Given the description of an element on the screen output the (x, y) to click on. 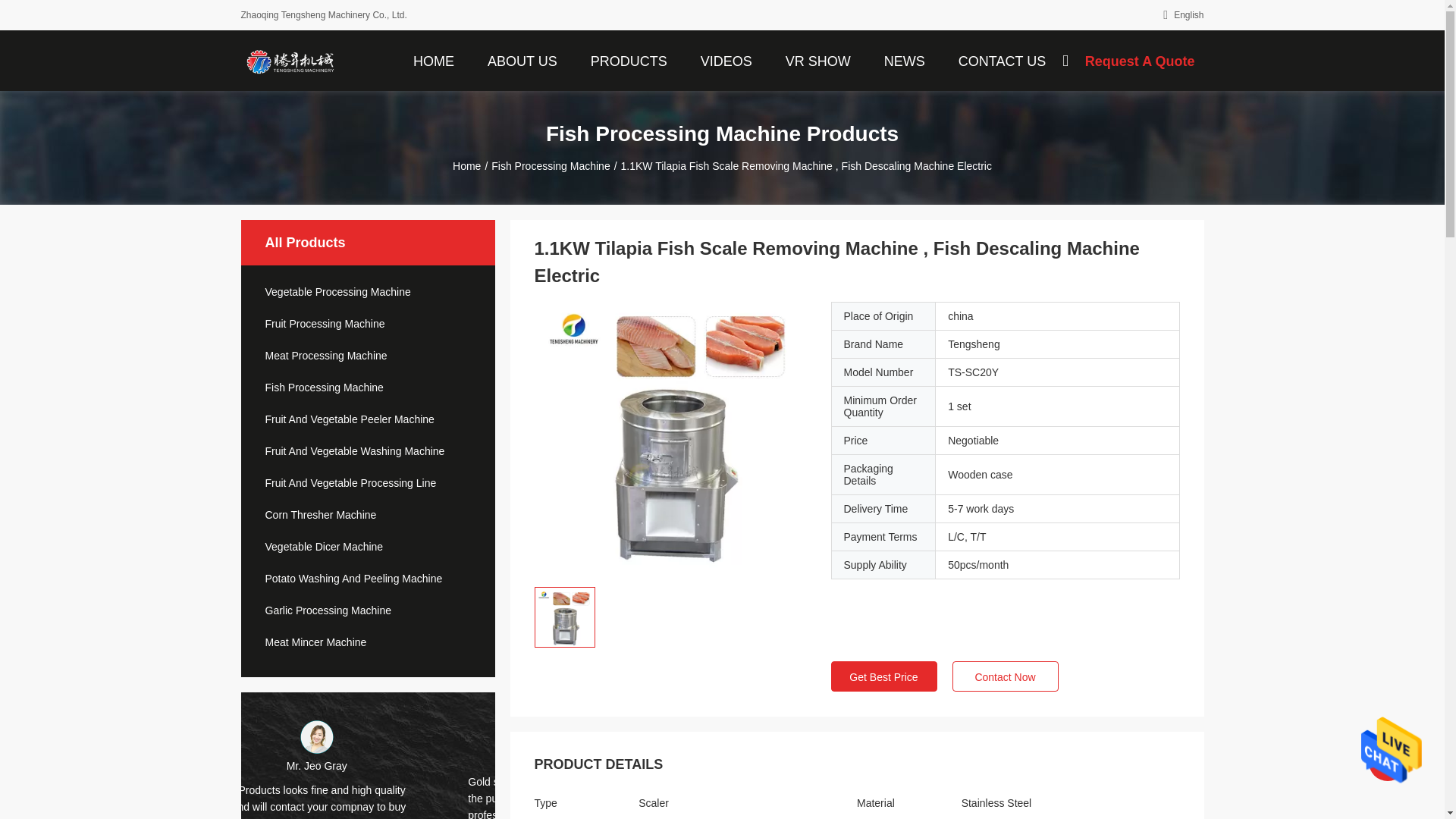
ABOUT US (522, 60)
PRODUCTS (628, 60)
HOME (433, 60)
